Given the description of an element on the screen output the (x, y) to click on. 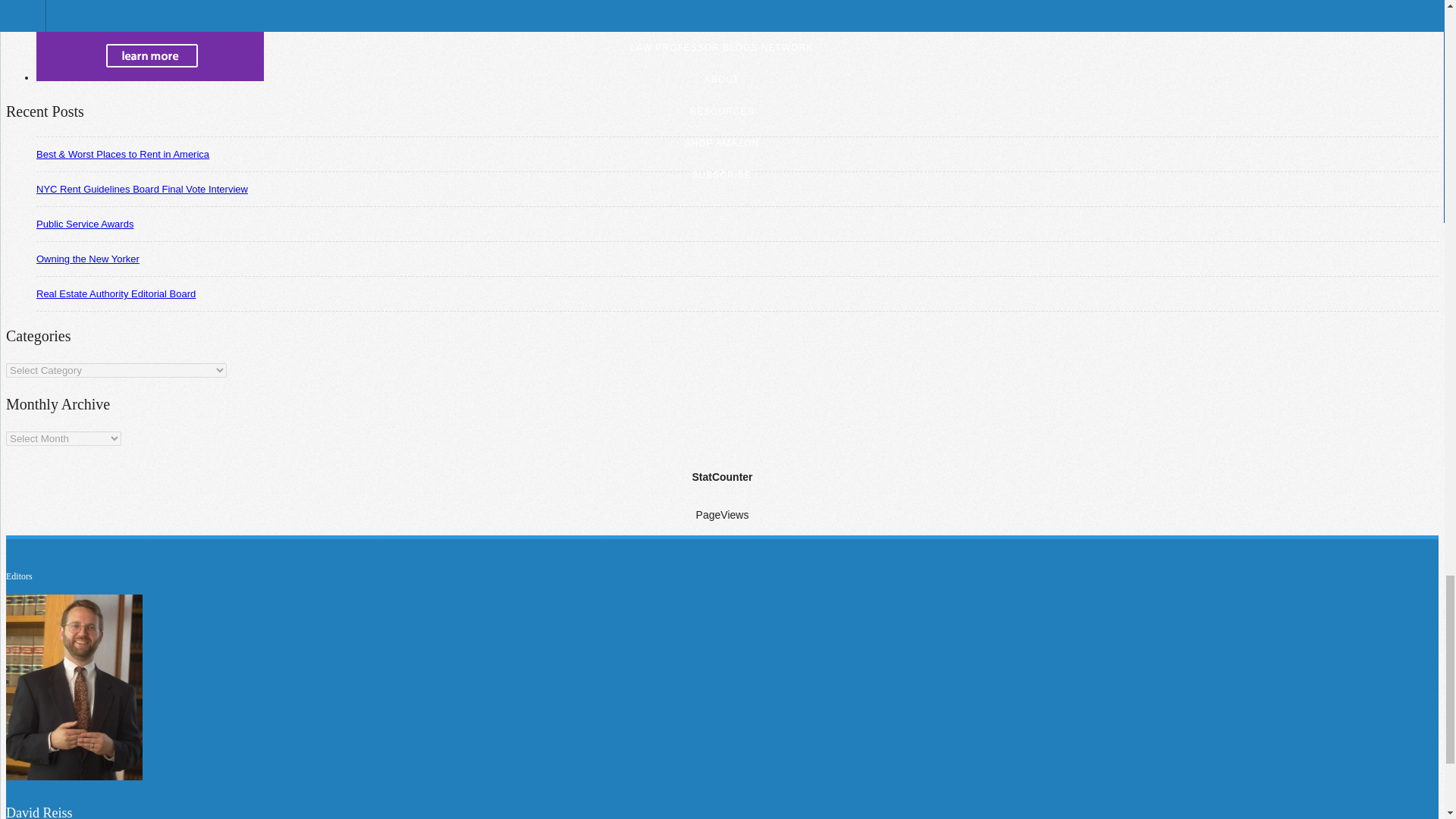
Look NYC Rent Guidelines Board Final Vote Interview (141, 188)
Look Real Estate Authority Editorial Board (115, 293)
Look Owning the New Yorker (87, 258)
Look Public Service Awards (84, 224)
